Given the description of an element on the screen output the (x, y) to click on. 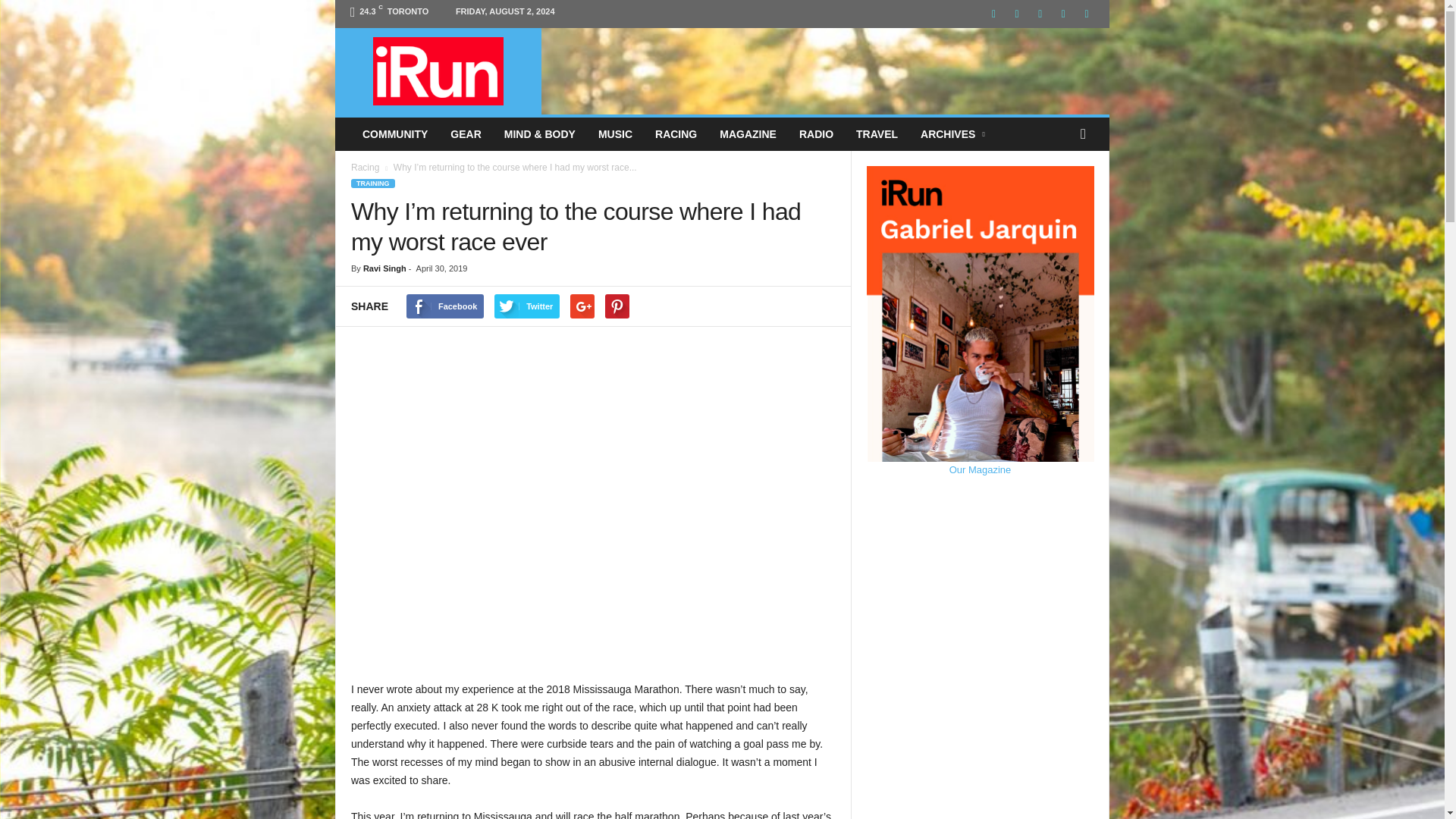
iRun.ca (437, 70)
GEAR (465, 133)
RADIO (815, 133)
RACING (675, 133)
TRAVEL (876, 133)
3rd party ad content (826, 61)
iRun.CA Magazine (437, 70)
ARCHIVES (953, 133)
COMMUNITY (394, 133)
MAGAZINE (747, 133)
MUSIC (614, 133)
